Given the description of an element on the screen output the (x, y) to click on. 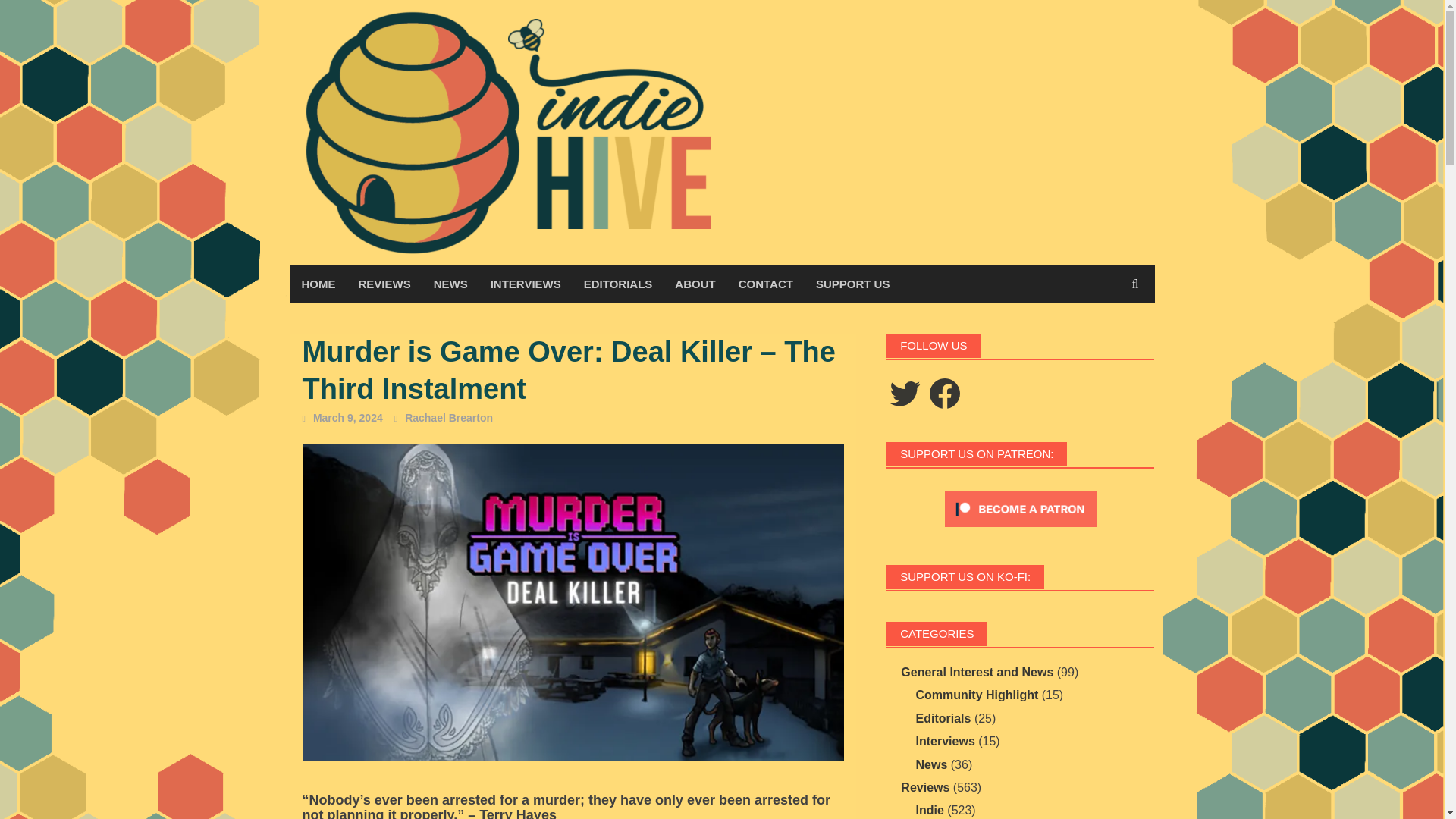
NEWS (450, 284)
March 9, 2024 (347, 417)
CONTACT (765, 284)
EDITORIALS (617, 284)
ABOUT (694, 284)
REVIEWS (384, 284)
SUPPORT US (853, 284)
INTERVIEWS (525, 284)
Rachael Brearton (448, 417)
HOME (317, 284)
